Given the description of an element on the screen output the (x, y) to click on. 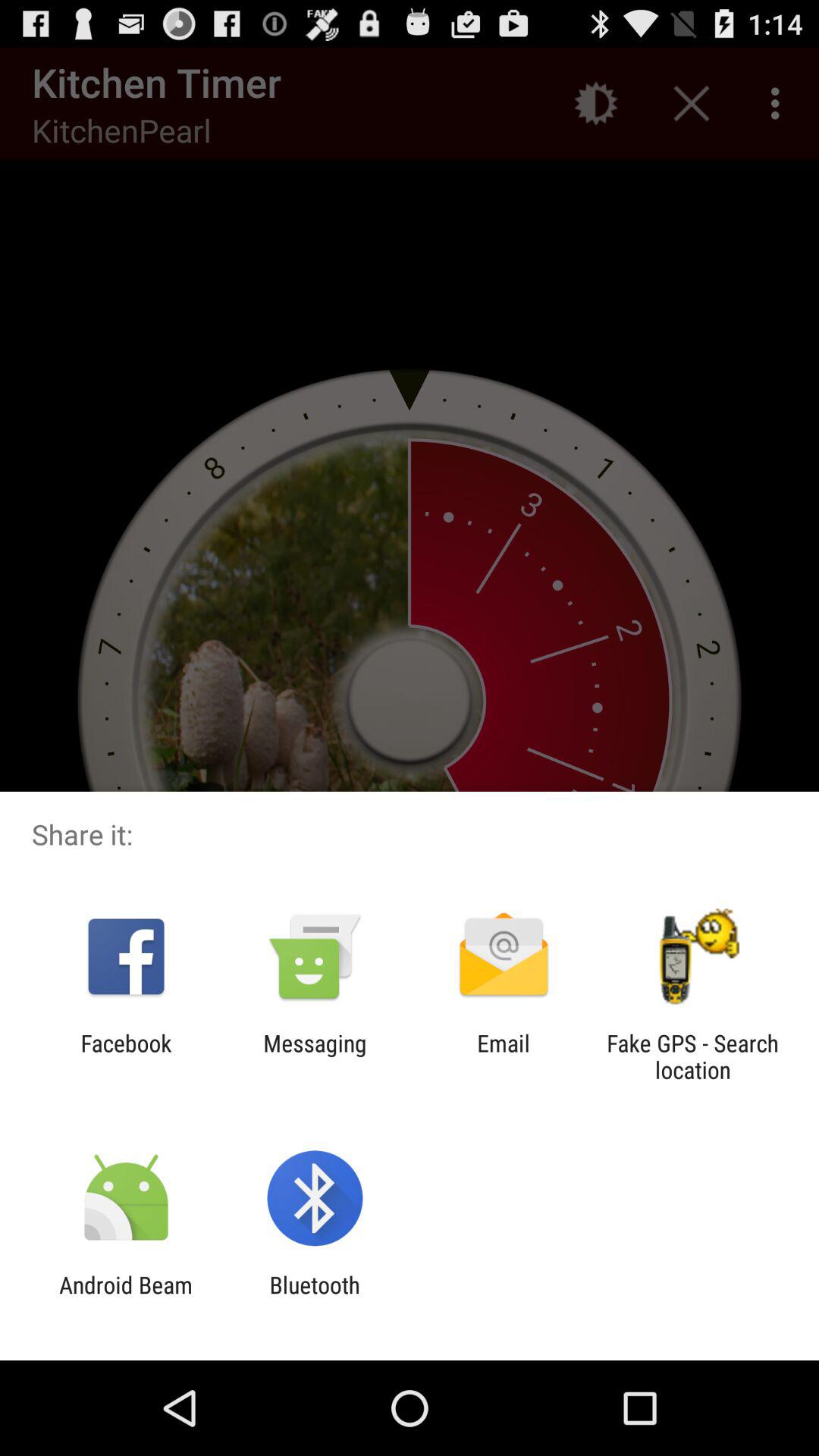
press the android beam (125, 1298)
